Given the description of an element on the screen output the (x, y) to click on. 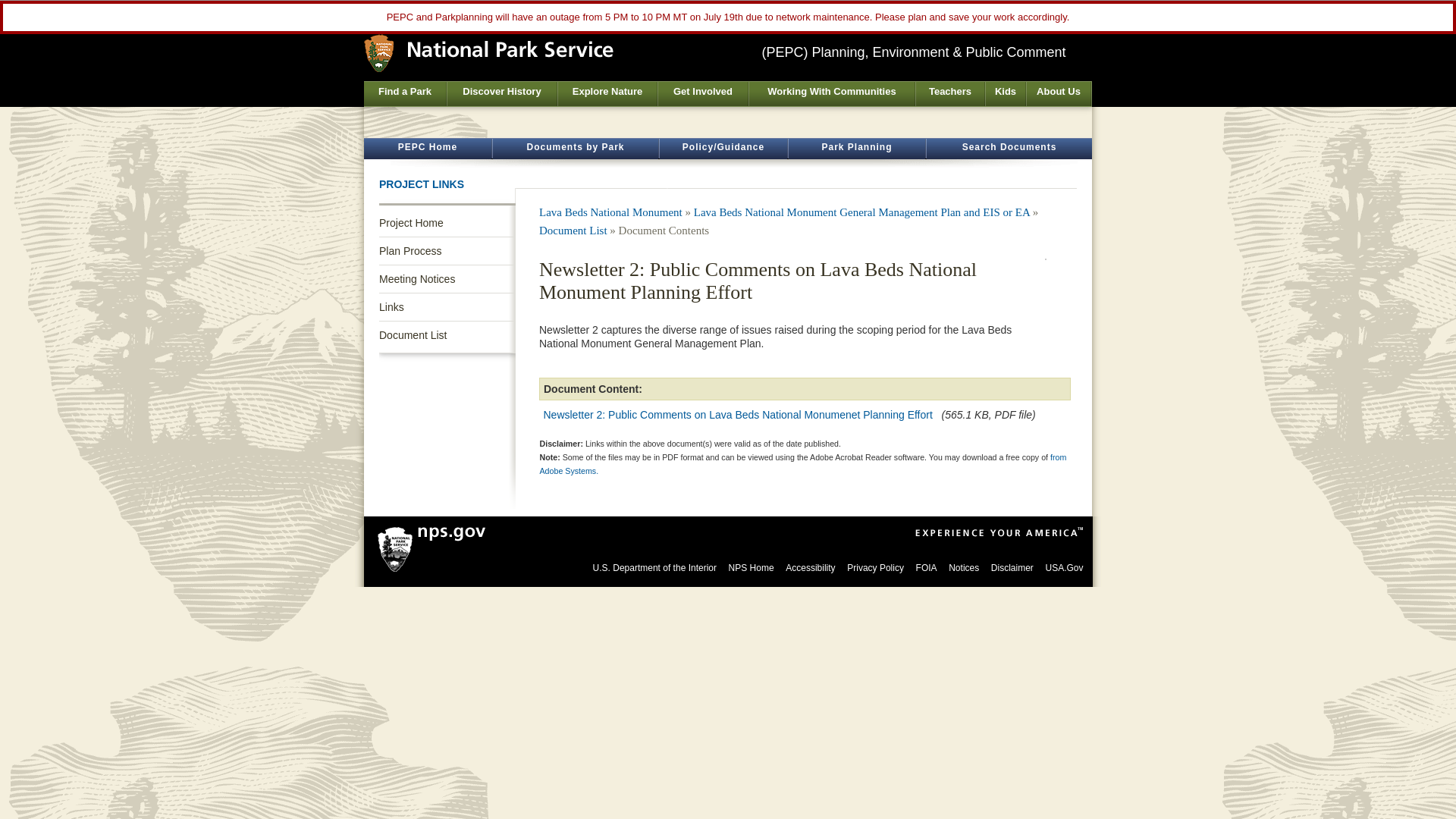
Plan Process (446, 250)
Freedom of Information Act (926, 567)
Lava Beds National Monument (610, 212)
Document List (572, 230)
Project Home (446, 223)
Get Involved (703, 93)
Find projects by search (856, 148)
Disclaimer (1012, 567)
Notices (963, 567)
Meeting Notices (446, 278)
Discover History (501, 93)
Find projects by search (1009, 148)
Working With Communities (831, 93)
Policy and guidance links (723, 148)
from Adobe Systems. (803, 463)
